Given the description of an element on the screen output the (x, y) to click on. 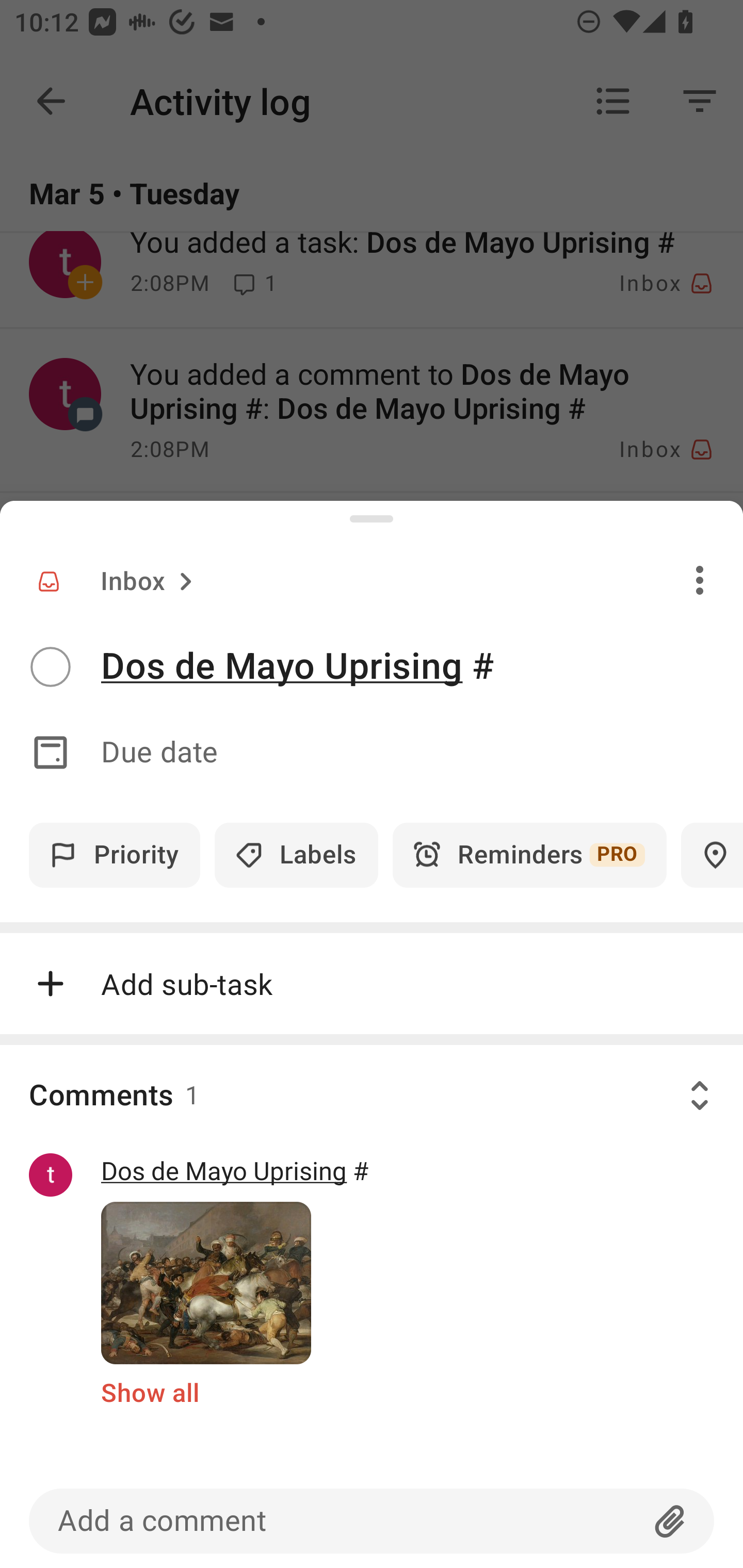
Overflow menu (699, 580)
Complete (50, 667)
Dos de Mayo Uprising #​ (422, 666)
Date Due date (371, 752)
Priority (113, 855)
Labels (296, 855)
Reminders PRO (529, 855)
Locations PRO (712, 855)
Add sub-task (371, 983)
Add a comment Attachment (371, 1520)
Attachment (670, 1520)
